Given the description of an element on the screen output the (x, y) to click on. 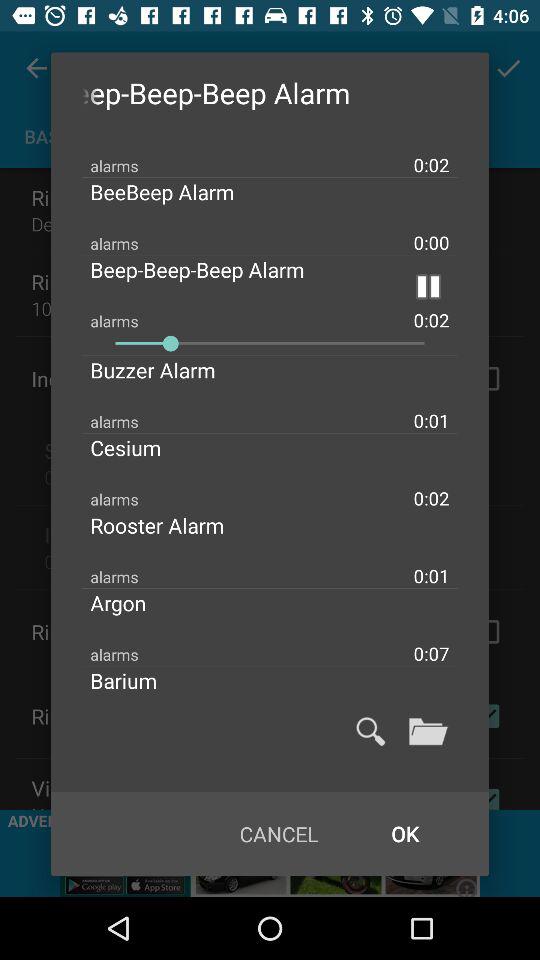
tap item at the top right corner (428, 286)
